Given the description of an element on the screen output the (x, y) to click on. 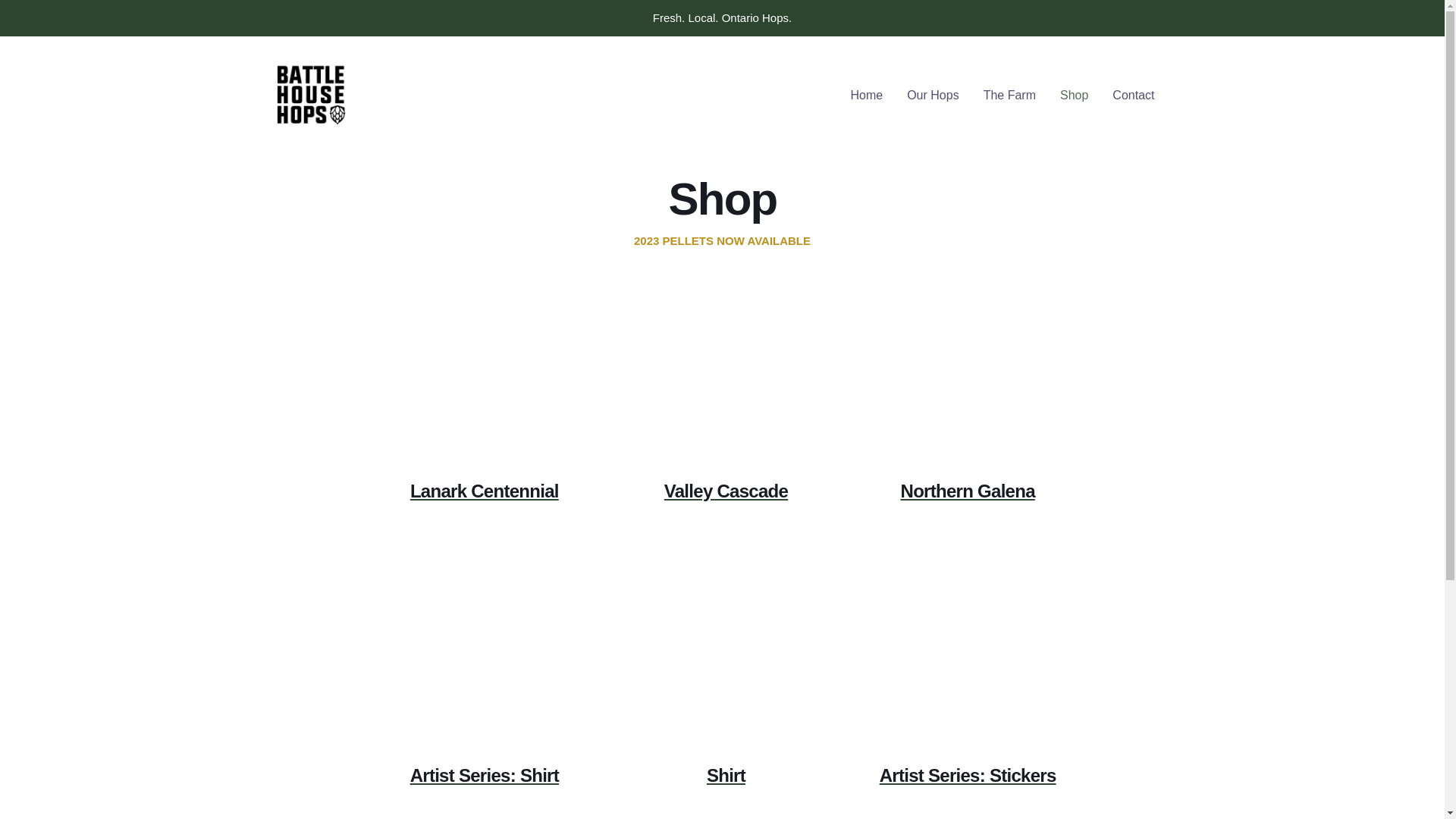
Valley Cascade Element type: text (721, 396)
Lanark Centennial Element type: text (480, 396)
Artist Series: Shirt Element type: text (480, 680)
Our Hops Element type: text (932, 95)
The Farm Element type: text (1009, 95)
Shirt Element type: text (721, 680)
Shop Element type: text (1074, 95)
Artist Series: Stickers Element type: text (963, 680)
Northern Galena Element type: text (963, 396)
Contact Element type: text (1133, 95)
Home Element type: text (865, 95)
